Given the description of an element on the screen output the (x, y) to click on. 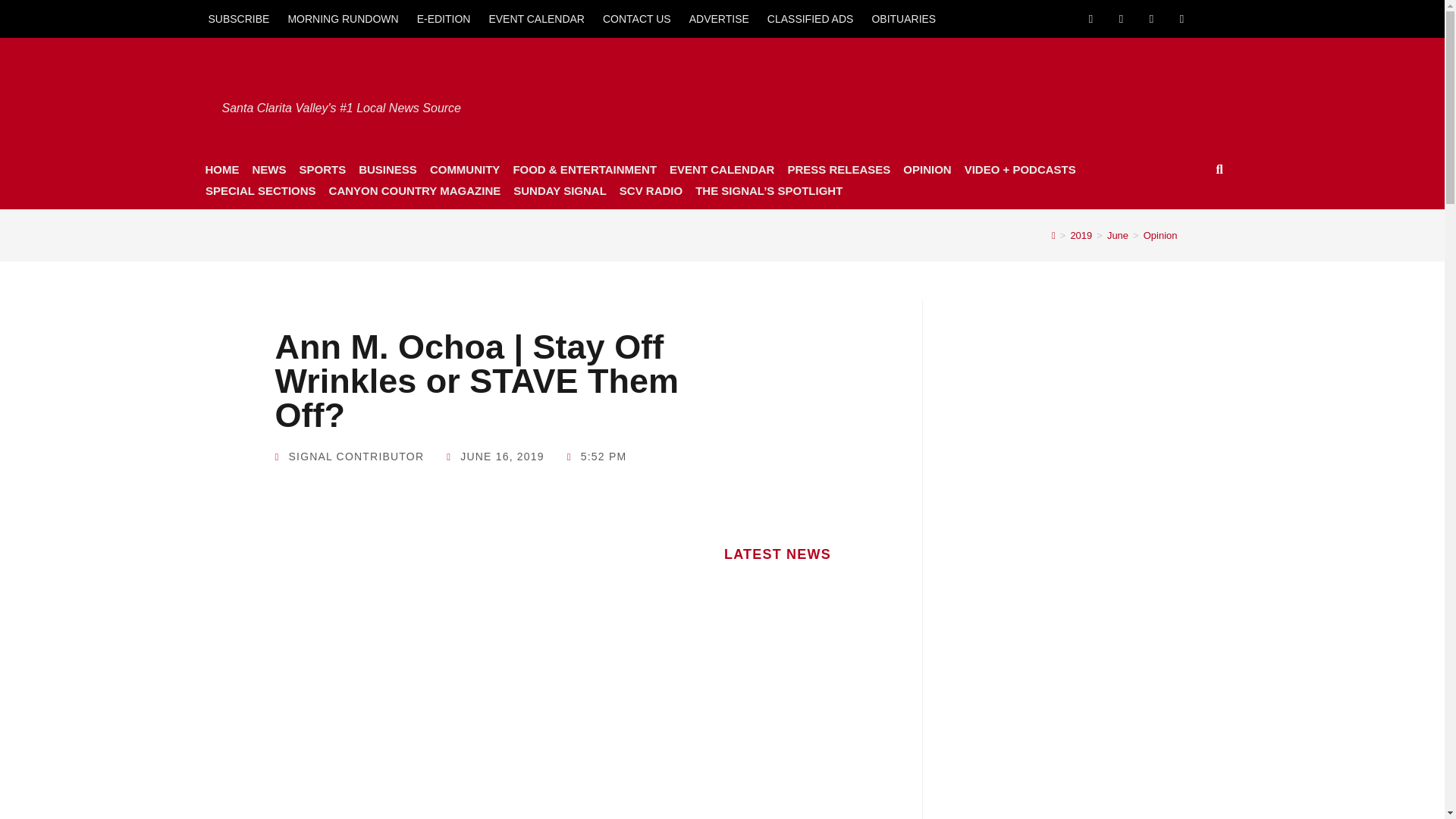
NEWS (269, 169)
CLASSIFIED ADS (810, 18)
CONTACT US (636, 18)
SUBSCRIBE (238, 18)
ADVERTISE (718, 18)
HOME (221, 169)
EVENT CALENDAR (536, 18)
E-EDITION (443, 18)
OBITUARIES (902, 18)
SPORTS (322, 169)
MORNING RUNDOWN (342, 18)
